Given the description of an element on the screen output the (x, y) to click on. 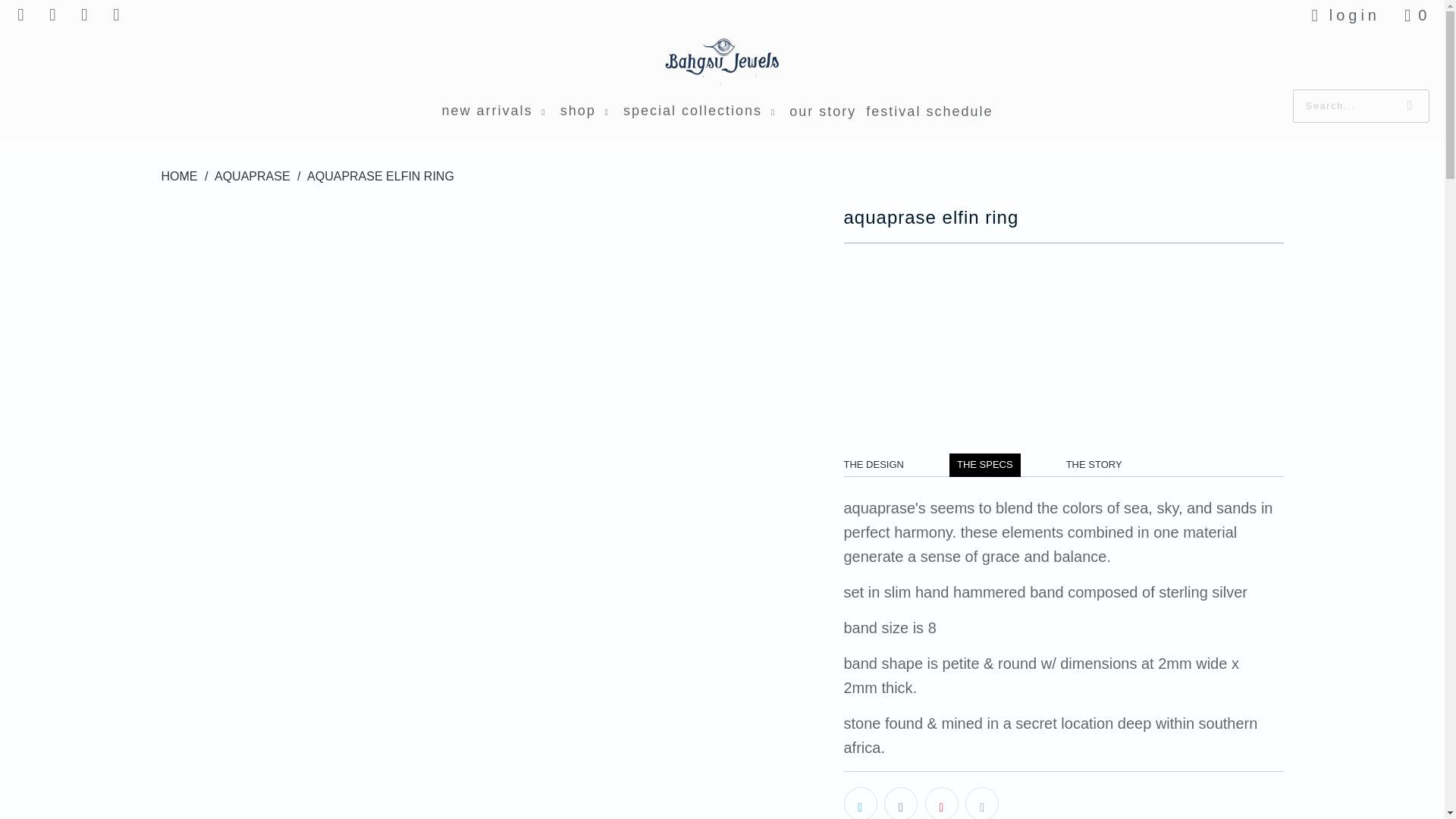
Bahgsu Jewels on Instagram (84, 14)
Email Bahgsu Jewels (20, 14)
My Account  (1342, 15)
Share this on Pinterest (941, 803)
Bahgsu Jewels on Facebook (52, 14)
Share this on Facebook (900, 803)
Bahgsu Jewels (722, 63)
aquaprase (251, 175)
Share this on Twitter (859, 803)
Bahgsu Jewels on Pinterest (116, 14)
